Given the description of an element on the screen output the (x, y) to click on. 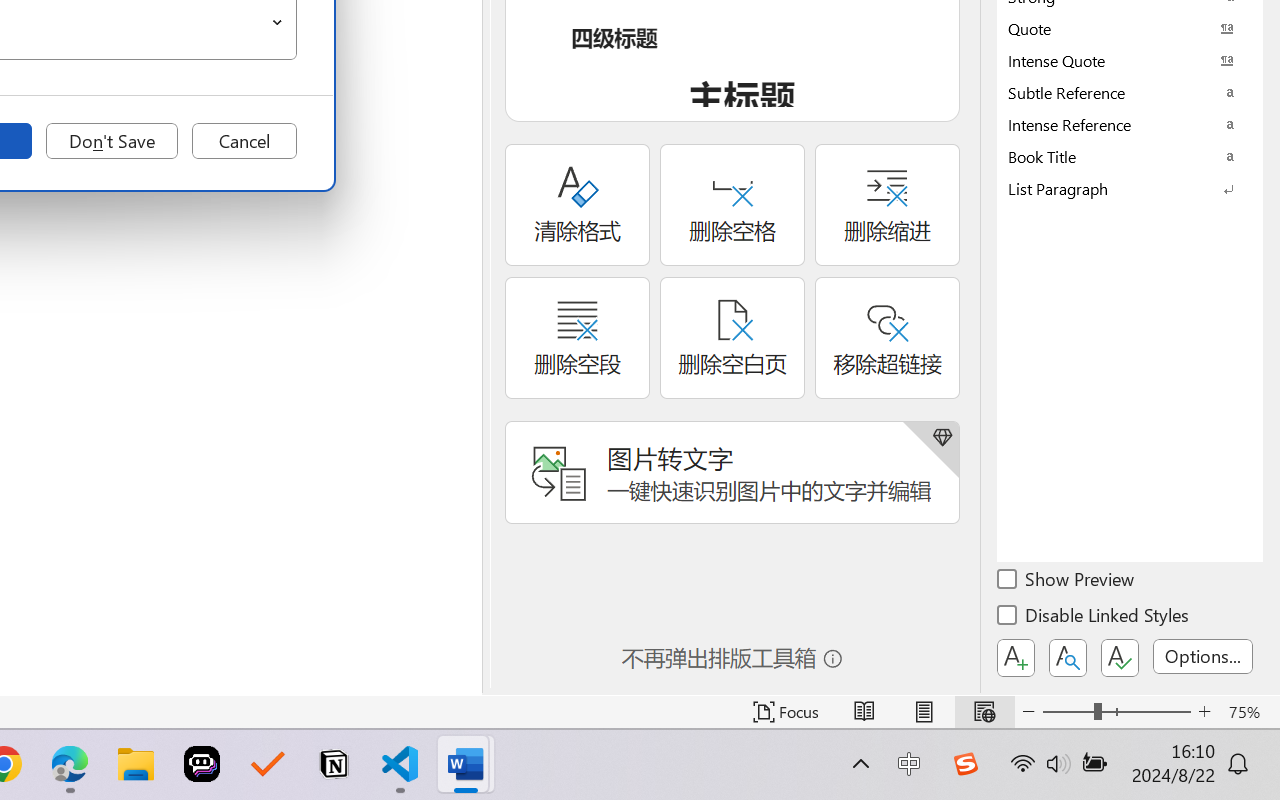
Intense Reference (1130, 124)
Book Title (1130, 156)
Read Mode (864, 712)
Poe (201, 764)
List Paragraph (1130, 188)
Cancel (244, 141)
